Given the description of an element on the screen output the (x, y) to click on. 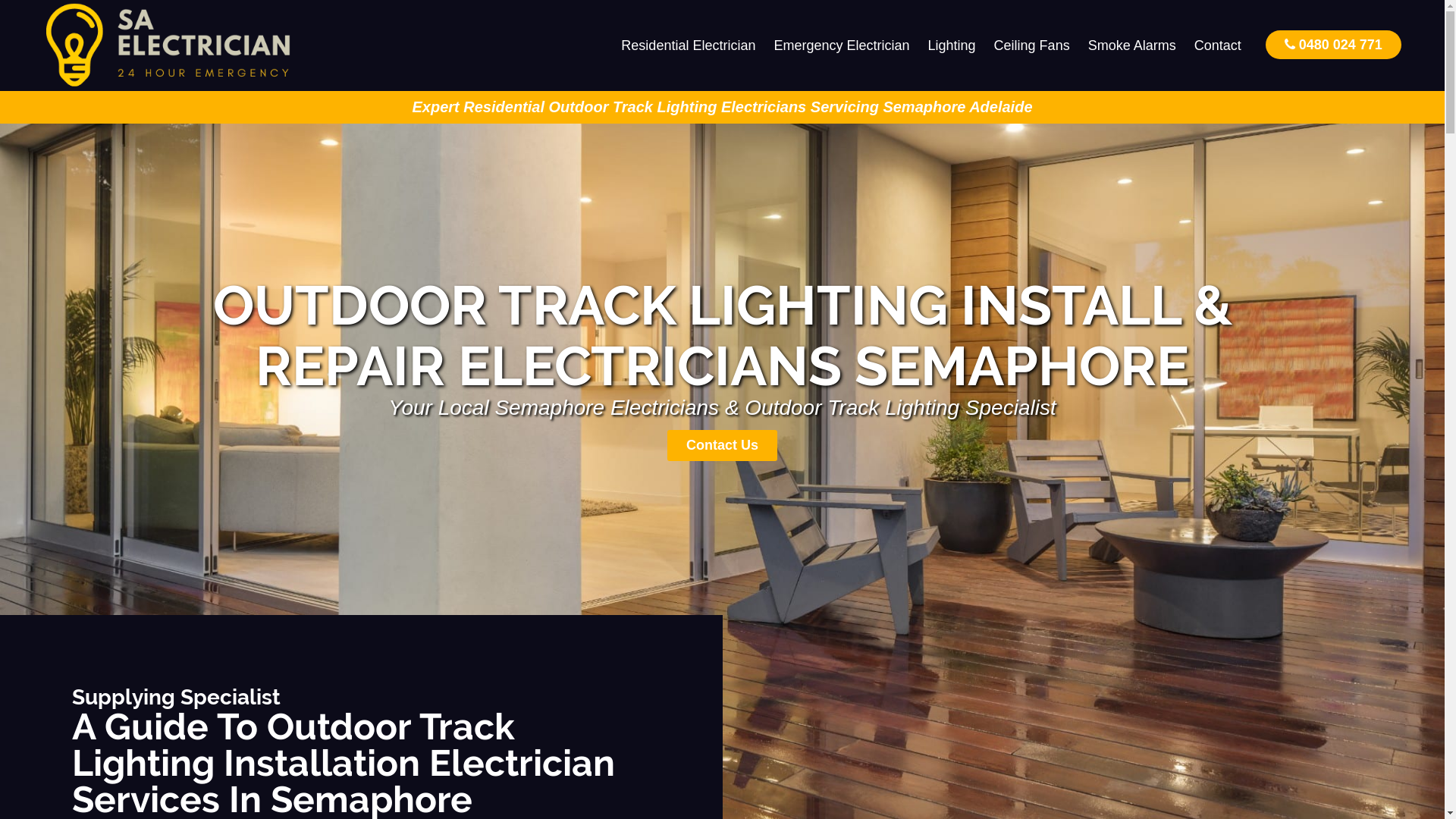
Smoke Alarms Element type: text (1132, 45)
Contact Us Element type: text (722, 445)
Lighting Element type: text (952, 45)
Residential Electrician Element type: text (687, 45)
Ceiling Fans Element type: text (1032, 45)
0480 024 771 Element type: text (1333, 44)
Contact Element type: text (1217, 45)
Emergency Electrician Element type: text (841, 45)
